Given the description of an element on the screen output the (x, y) to click on. 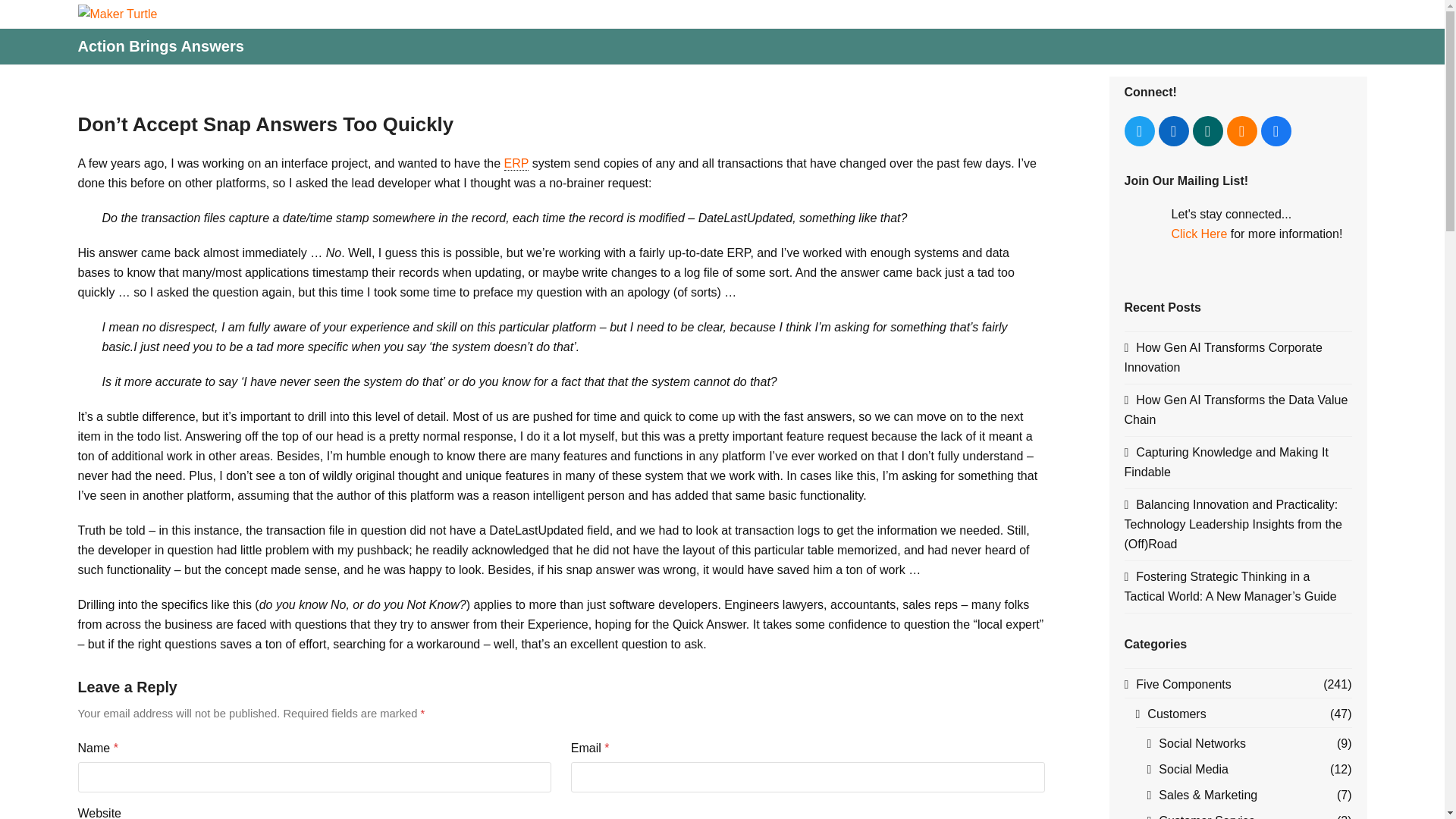
Twitter (1139, 131)
RSS (1242, 131)
ERP (516, 163)
Twitter (1139, 131)
Facebook (1275, 131)
Xing (1207, 131)
LinkedIn (1173, 131)
LinkedIn (1173, 131)
Facebook (1275, 131)
Xing (1207, 131)
